Given the description of an element on the screen output the (x, y) to click on. 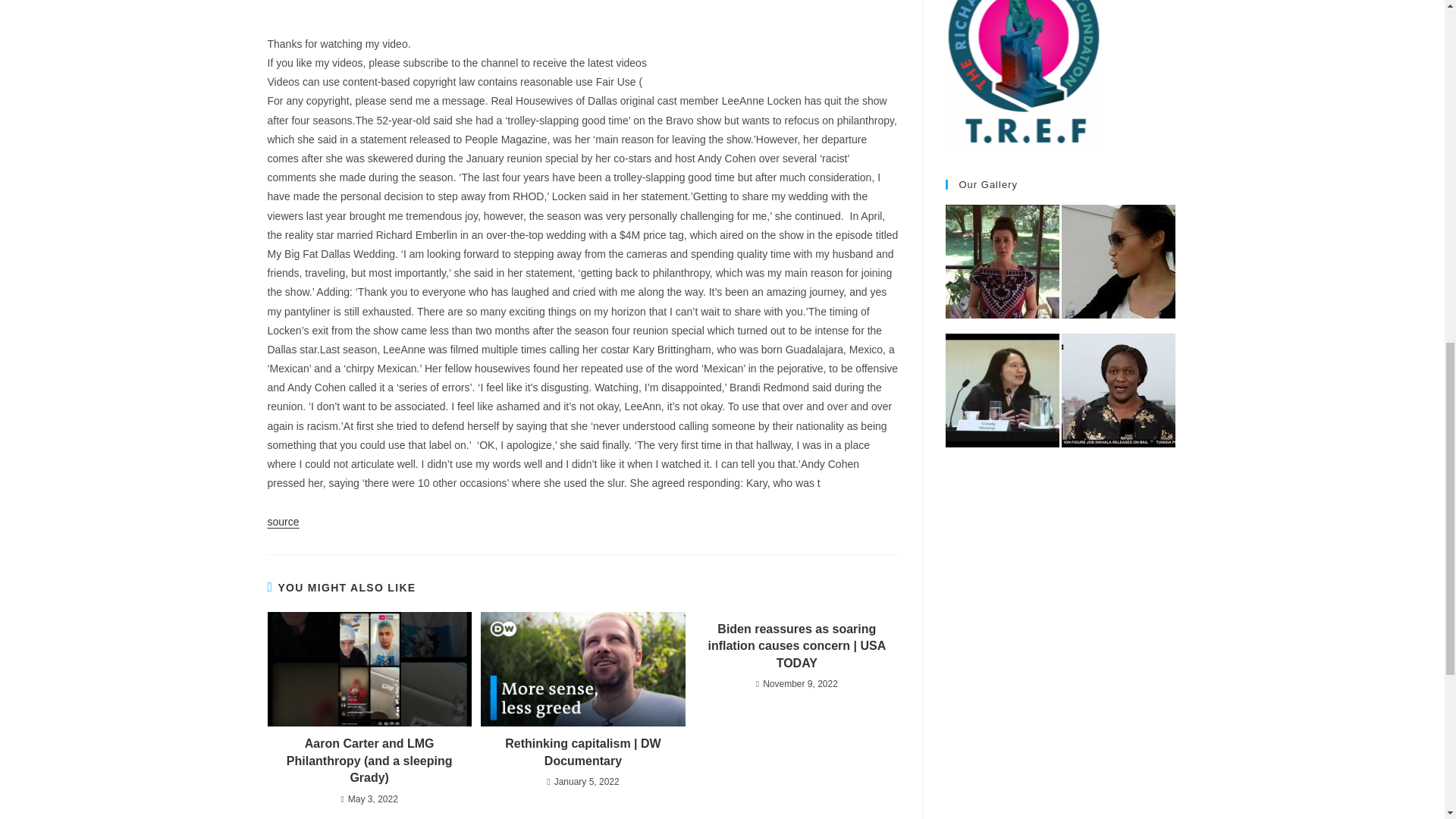
source (282, 521)
